Given the description of an element on the screen output the (x, y) to click on. 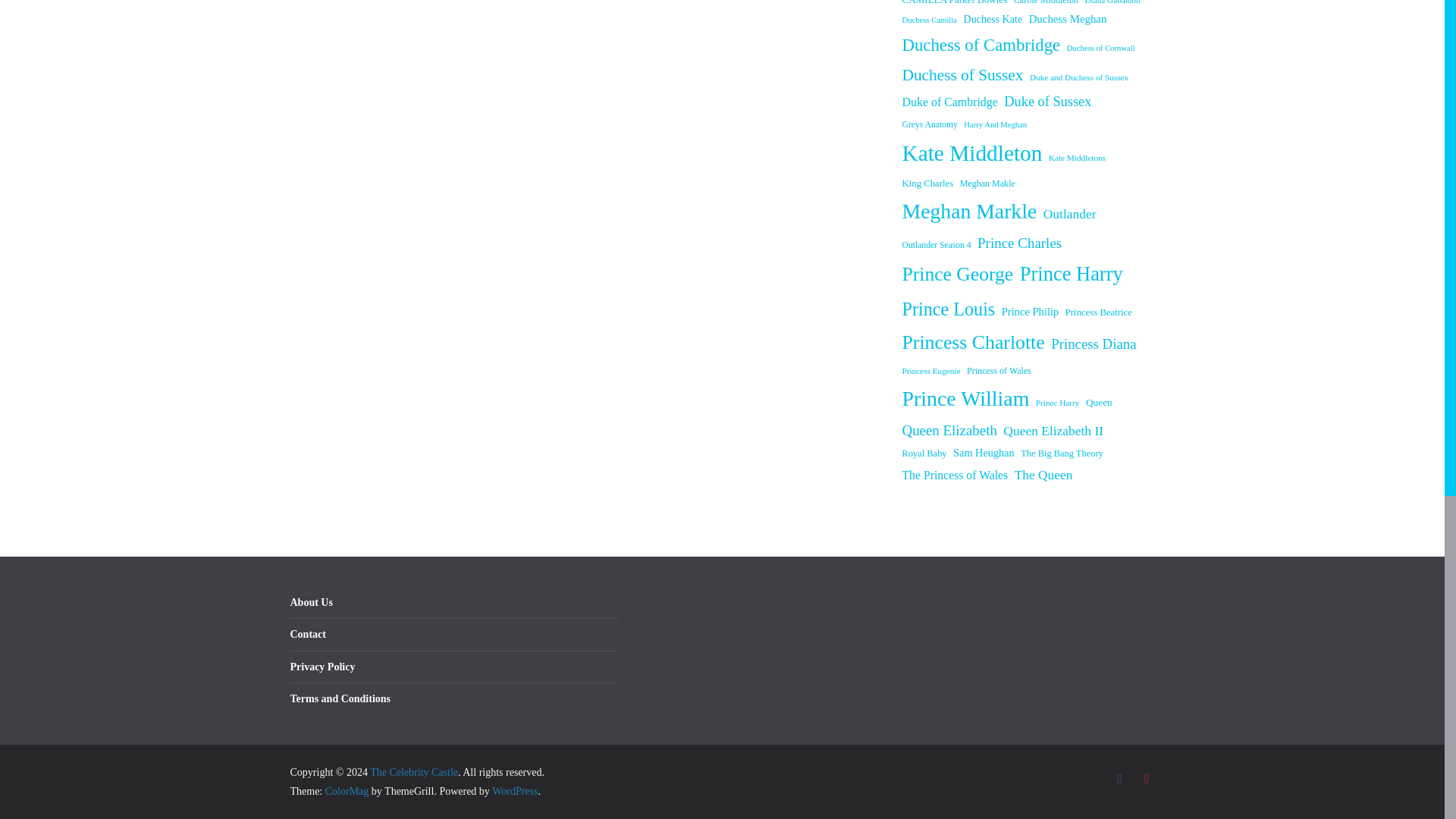
Duchess Camilla (930, 20)
Duchess Kate (993, 18)
WordPress (514, 790)
Meghan Makle (986, 184)
Duke and Duchess of Sussex (1078, 77)
Greys Anatomy (930, 125)
Duchess of Cornwall (1101, 47)
Harry And Meghan (994, 124)
Duke of Sussex (1047, 101)
The Celebrity Castle (413, 772)
